Given the description of an element on the screen output the (x, y) to click on. 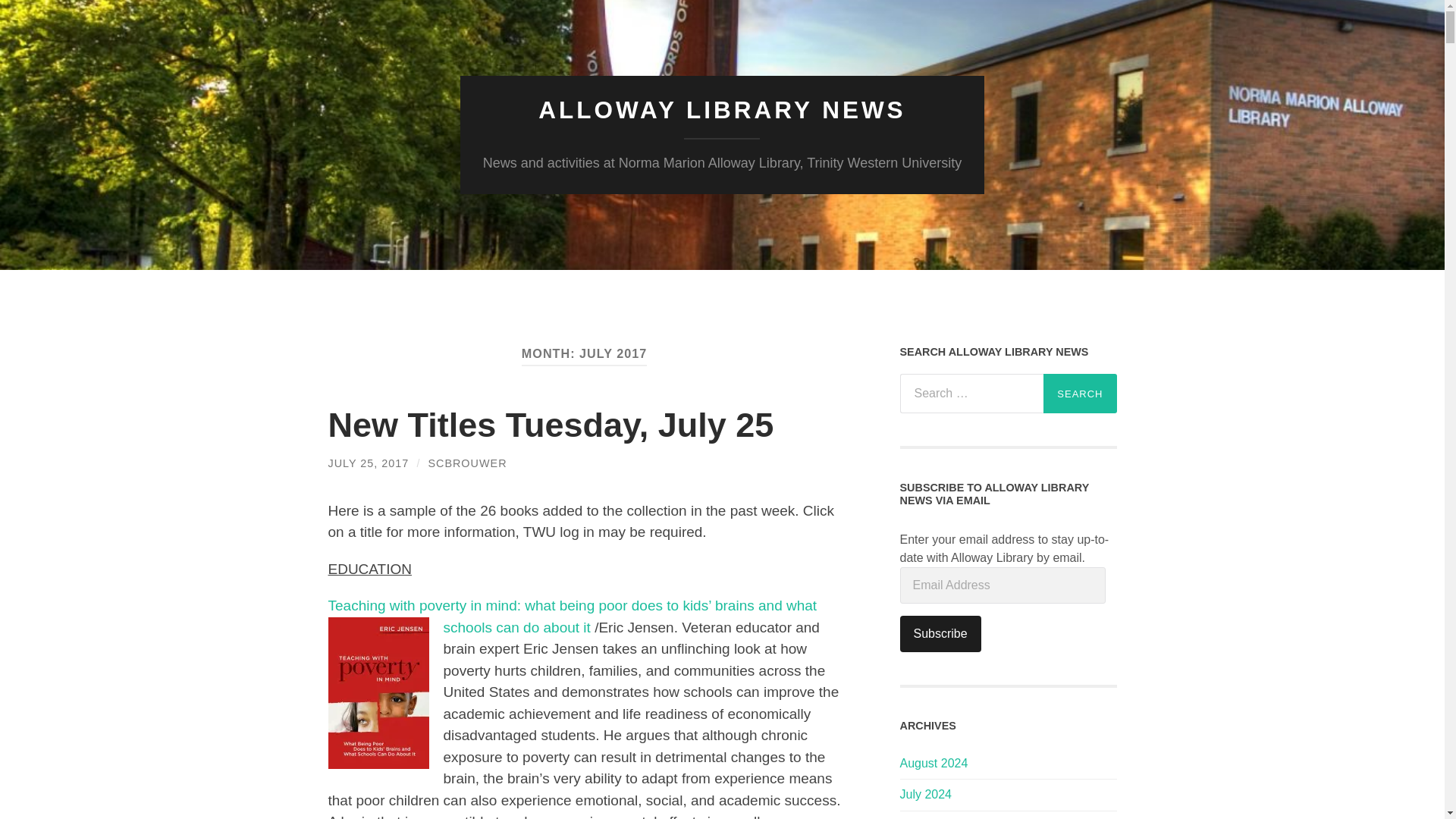
SCBROUWER (467, 463)
New Titles Tuesday, July 25 (550, 424)
ALLOWAY LIBRARY NEWS (721, 109)
JULY 25, 2017 (368, 463)
Search (1079, 393)
Search (1079, 393)
Posts by scbrouwer (467, 463)
